Given the description of an element on the screen output the (x, y) to click on. 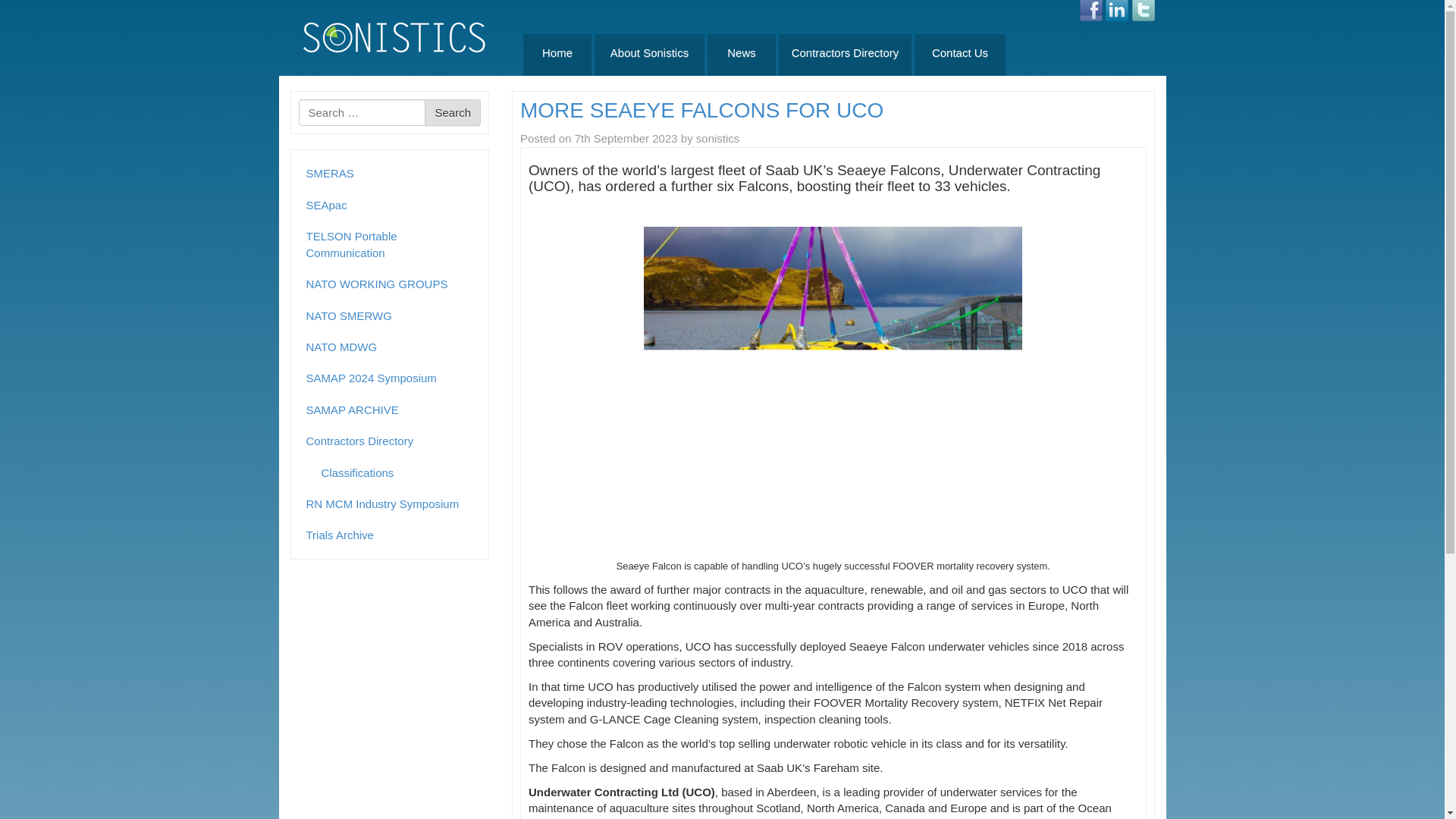
SAMAP ARCHIVE (389, 409)
Home (556, 55)
Contact Us (960, 55)
RN MCM Industry Symposium (389, 503)
News (741, 55)
Sonistics (394, 36)
Contractors Directory (844, 55)
Classifications (397, 472)
Search for: (362, 112)
sonistics (717, 137)
SMERAS (389, 173)
View all posts by sonistics (717, 137)
SEApac (389, 204)
NATO MDWG (389, 346)
TELSON Portable Communication (389, 244)
